Given the description of an element on the screen output the (x, y) to click on. 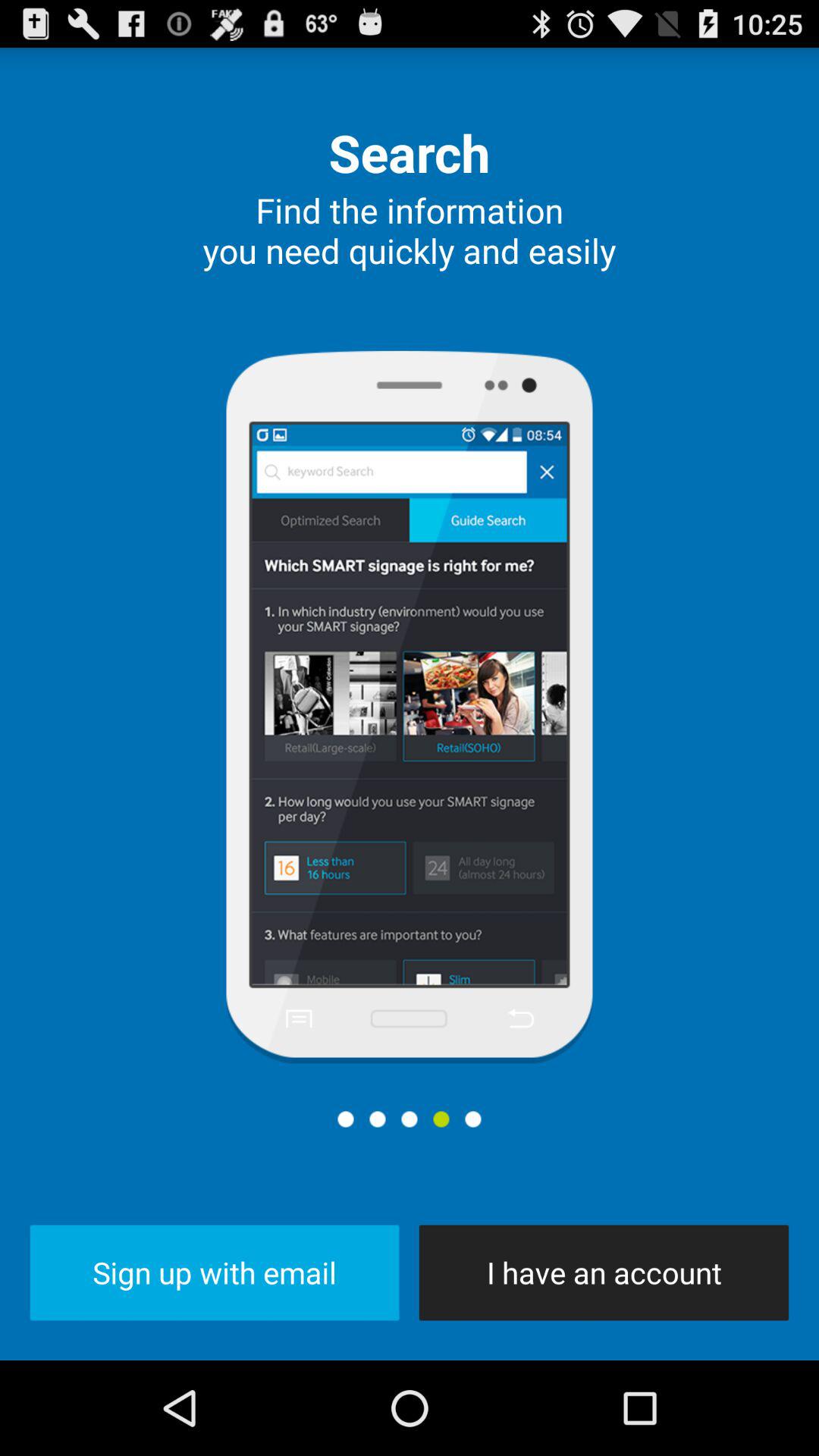
turn off the icon at the bottom right corner (603, 1272)
